Given the description of an element on the screen output the (x, y) to click on. 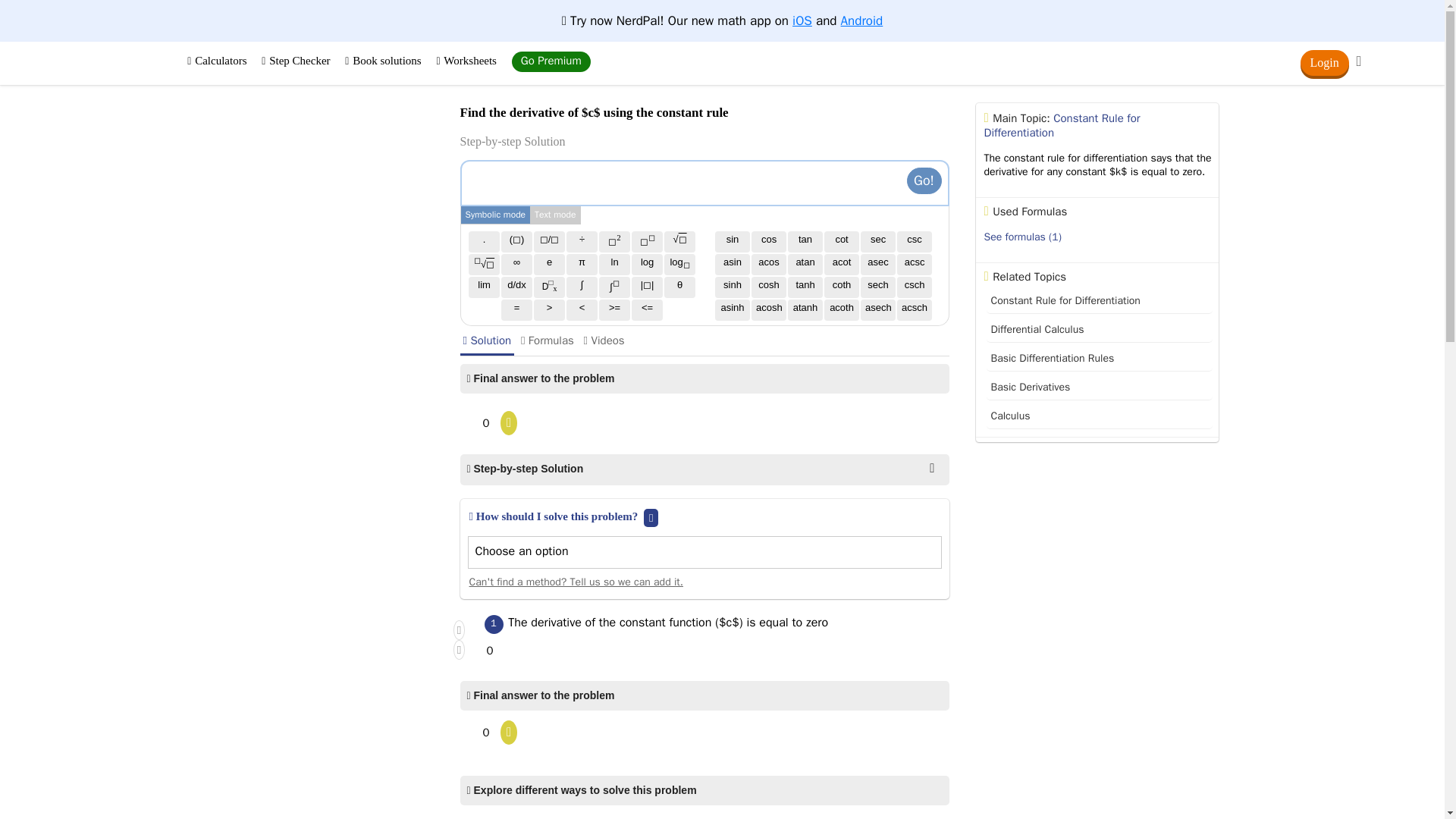
iOS (802, 20)
Constant Rule for Differentiation (1062, 125)
Upload an image (891, 178)
Calculus (1098, 416)
Android (862, 20)
Basic Derivatives (1098, 387)
Go Premium (551, 61)
Login (1324, 62)
Constant Rule for Differentiation (1098, 301)
Differential Calculus (1098, 330)
Basic Differentiation Rules (1098, 358)
